Given the description of an element on the screen output the (x, y) to click on. 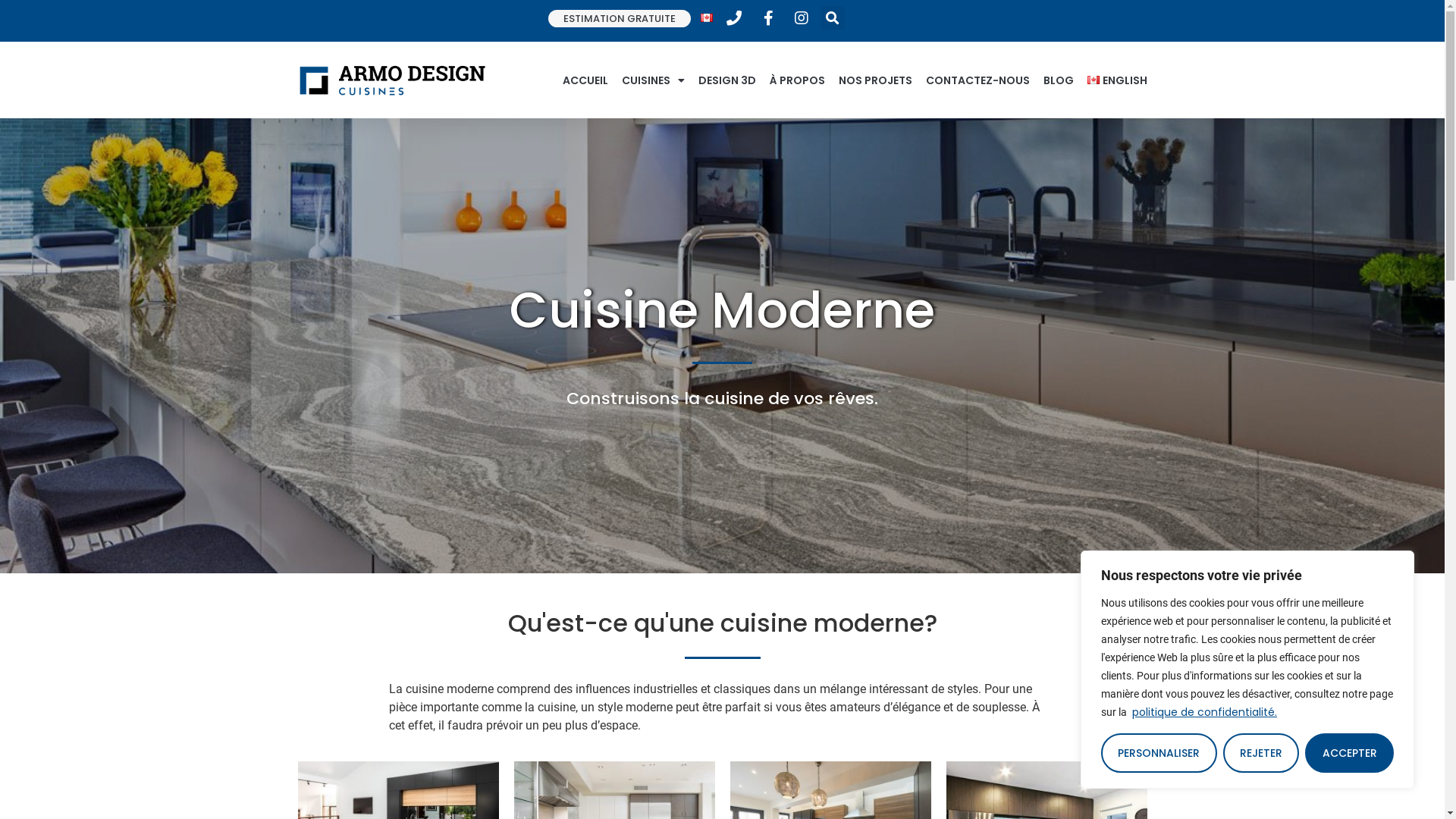
CONTACTEZ-NOUS Element type: text (977, 79)
ACCEPTER Element type: text (1349, 752)
BLOG Element type: text (1058, 79)
NOS PROJETS Element type: text (875, 79)
REJETER Element type: text (1261, 752)
PERSONNALISER Element type: text (1159, 752)
ENGLISH Element type: text (1117, 79)
ACCUEIL Element type: text (585, 79)
CUISINES Element type: text (652, 79)
DESIGN 3D Element type: text (727, 79)
ESTIMATION GRATUITE Element type: text (619, 17)
